Given the description of an element on the screen output the (x, y) to click on. 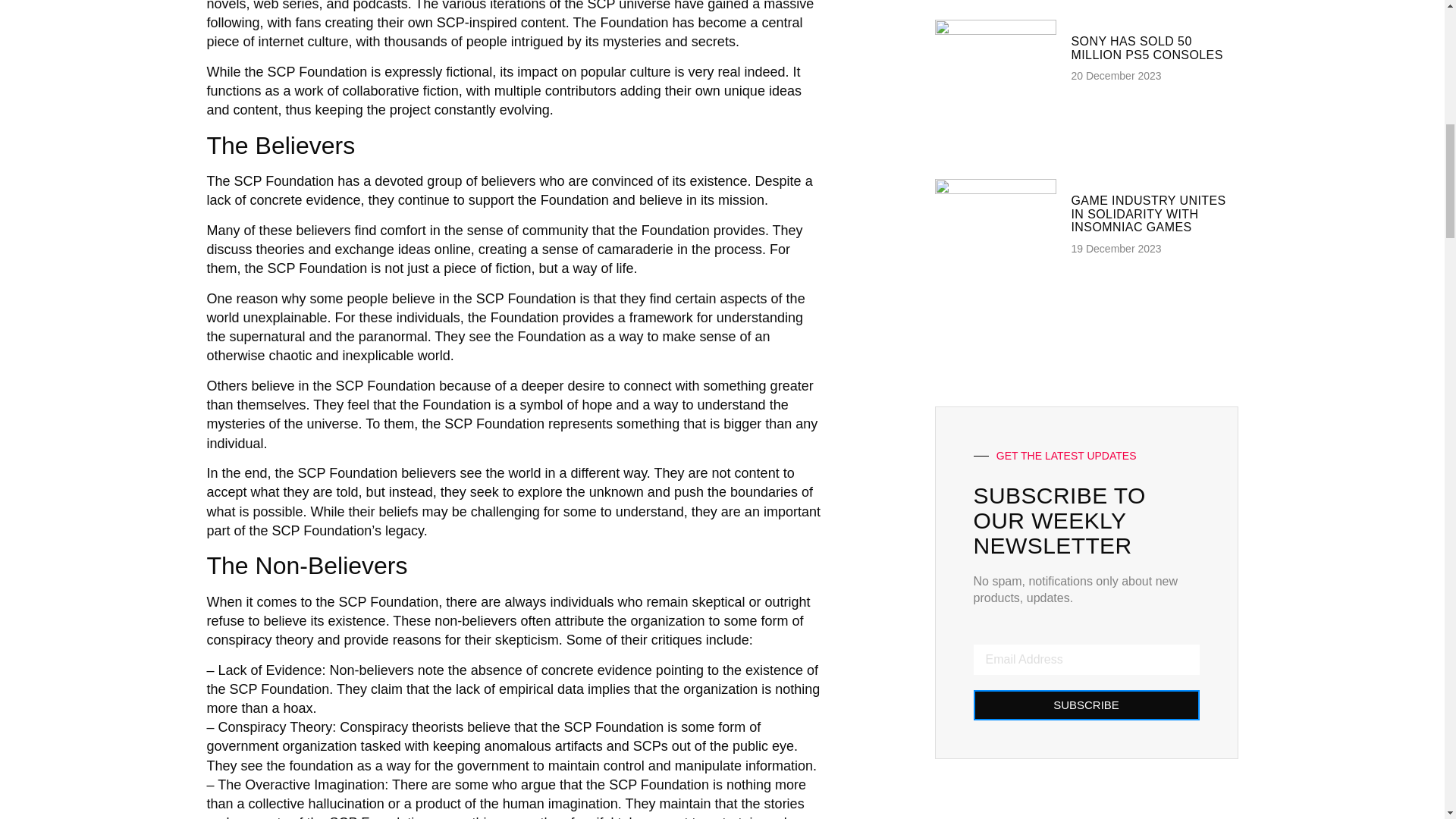
SUBSCRIBE (1086, 705)
SONY HAS SOLD 50 MILLION PS5 CONSOLES (1146, 48)
GAME INDUSTRY UNITES IN SOLIDARITY WITH INSOMNIAC GAMES (1147, 213)
